Given the description of an element on the screen output the (x, y) to click on. 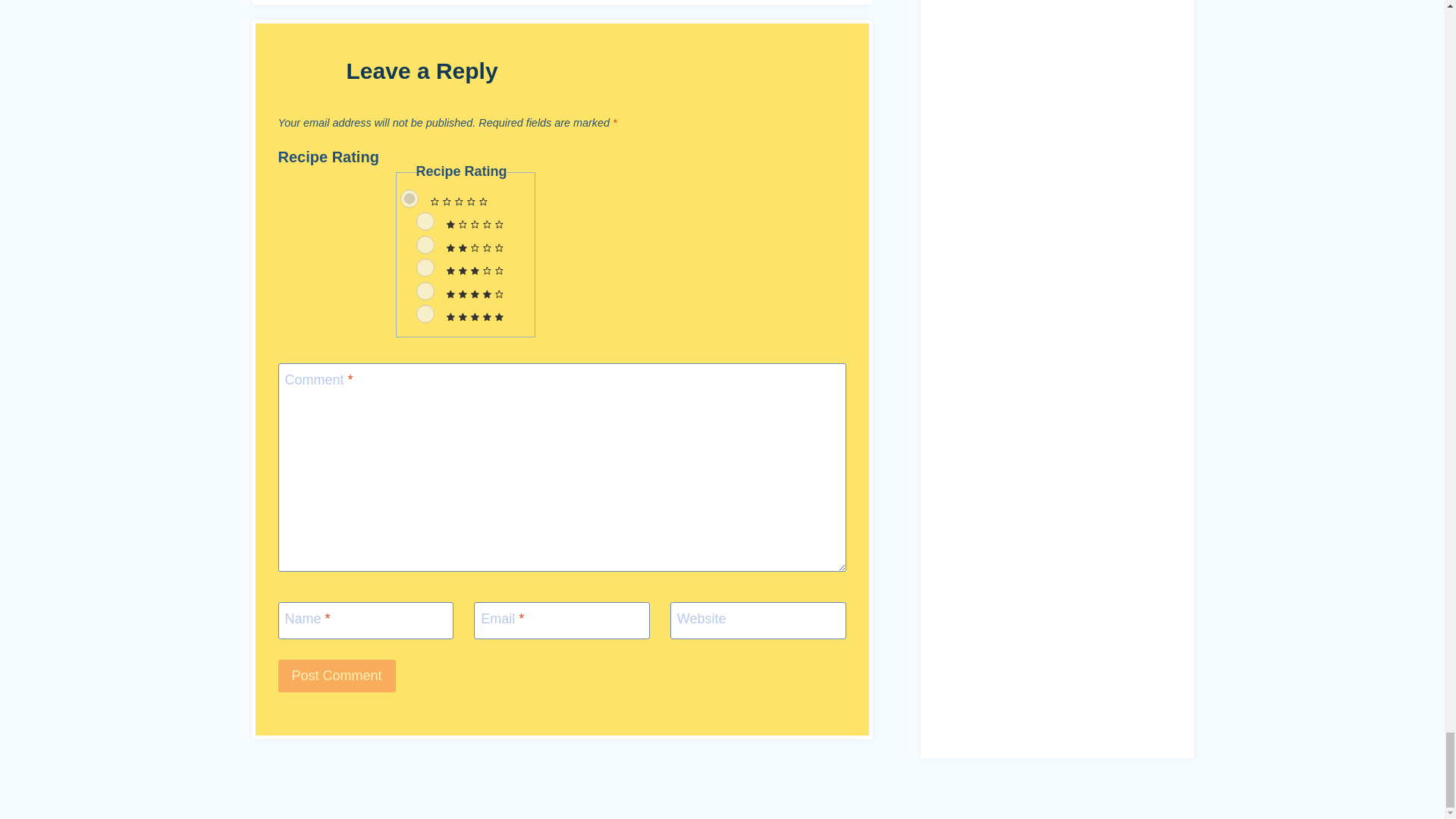
Post Comment (336, 676)
3 (423, 267)
5 (423, 313)
0 (409, 198)
1 (423, 221)
2 (423, 244)
4 (423, 290)
